Given the description of an element on the screen output the (x, y) to click on. 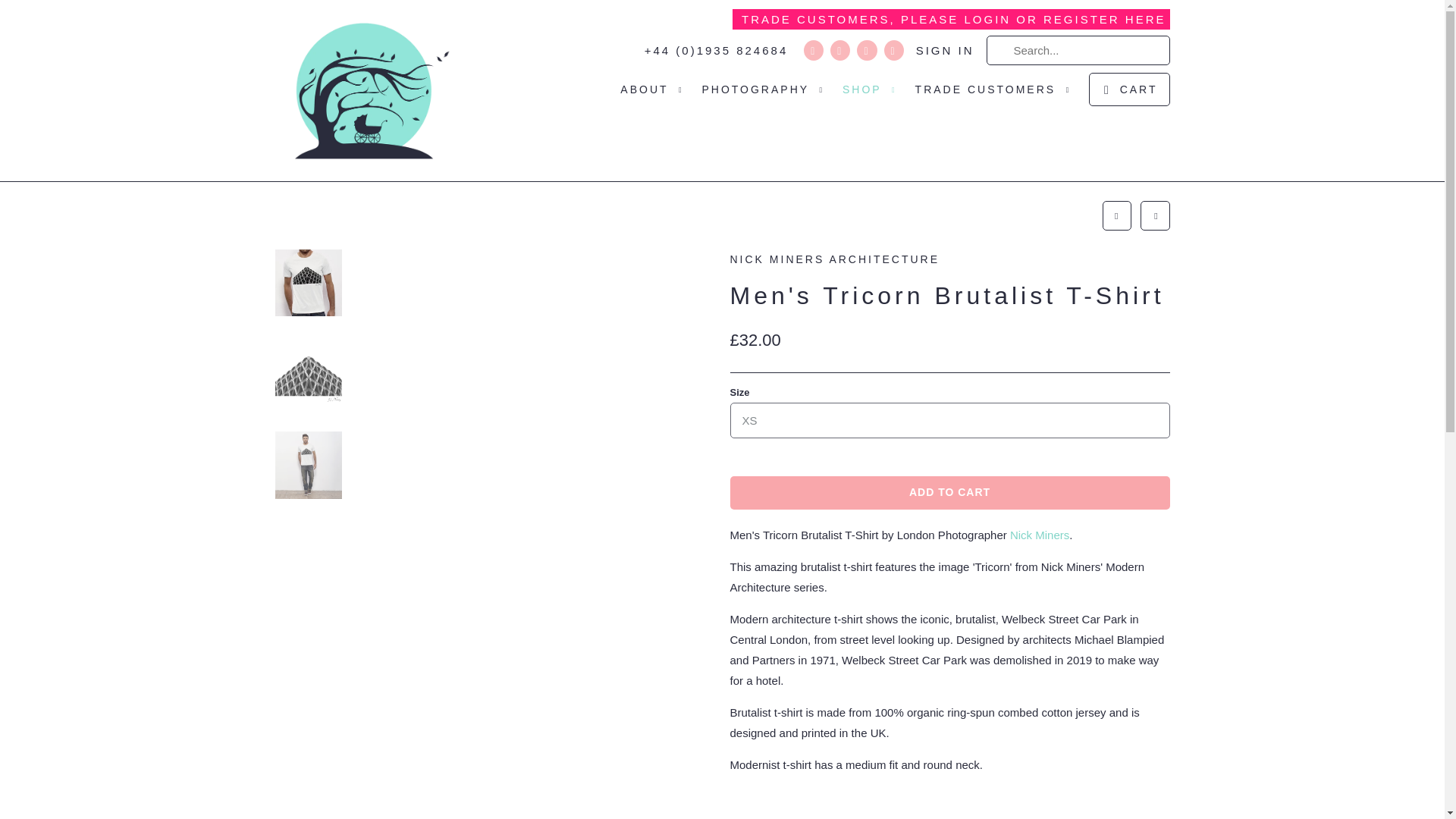
Infromthestorm.com (363, 90)
Email Infromthestorm.com (893, 50)
CART (1129, 89)
Cart (1129, 89)
TRADE CUSTOMERS (994, 94)
Infromthestorm.com on Facebook (839, 50)
Buy Brutalist Architecture T-Shirts by Nick Miners (1039, 534)
PHOTOGRAPHY (764, 94)
Nick Miners Architecture (949, 263)
 TRADE CUSTOMERS, PLEASE LOGIN OR REGISTER HERE (950, 19)
